Given the description of an element on the screen output the (x, y) to click on. 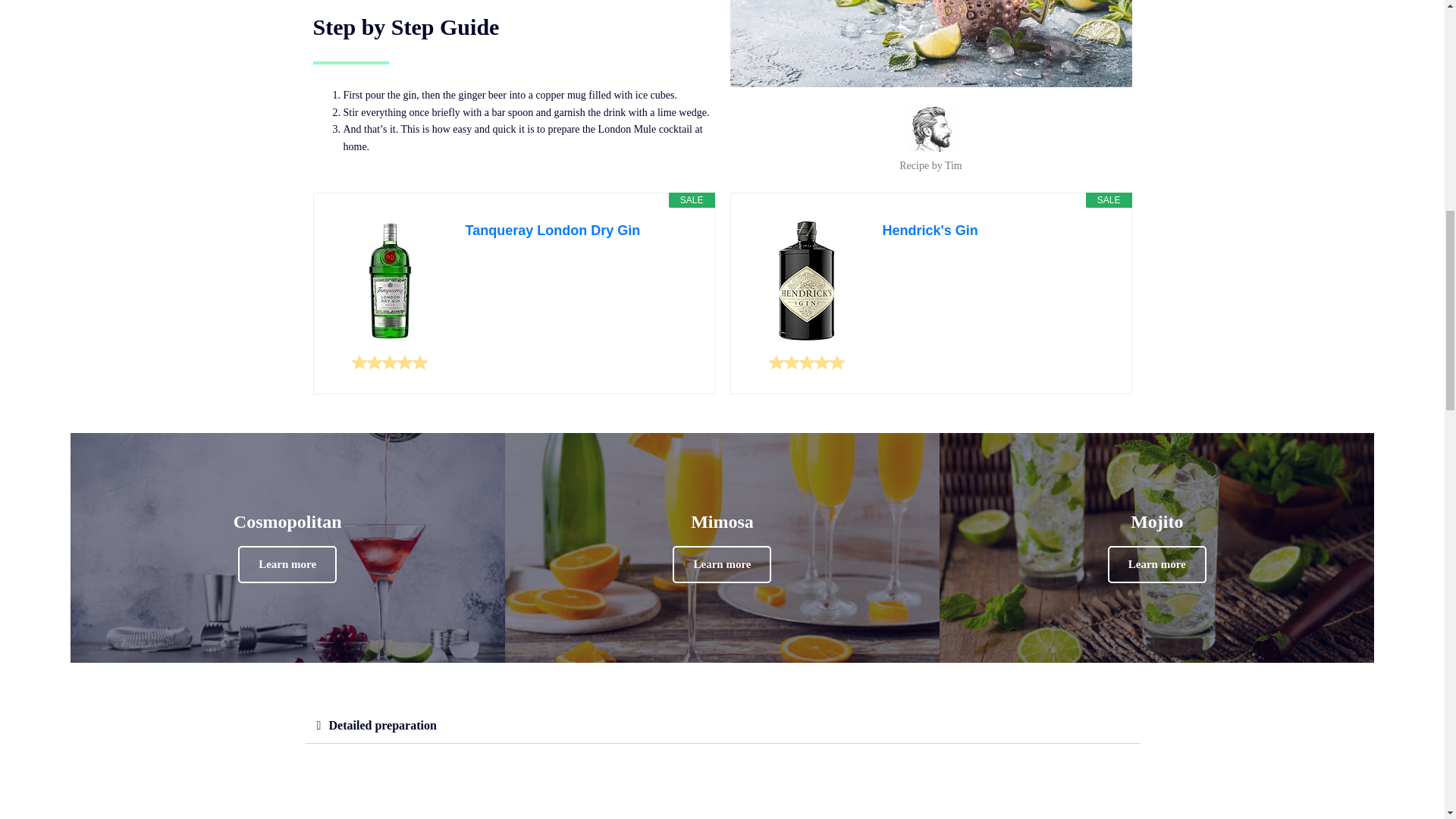
Amazon Prime (1094, 260)
Tanqueray London Dry Gin (389, 280)
Learn more (1157, 564)
Learn more (721, 564)
Hendrick's Gin (999, 230)
Tanqueray London Dry Gin (581, 230)
Amazon Prime (677, 260)
Detailed preparation (382, 725)
Hendrick's Gin (999, 230)
Tanqueray London Dry Gin (581, 230)
tim-barkeeper-nation (930, 128)
Learn more (287, 564)
Hendrick's Gin (806, 280)
